Given the description of an element on the screen output the (x, y) to click on. 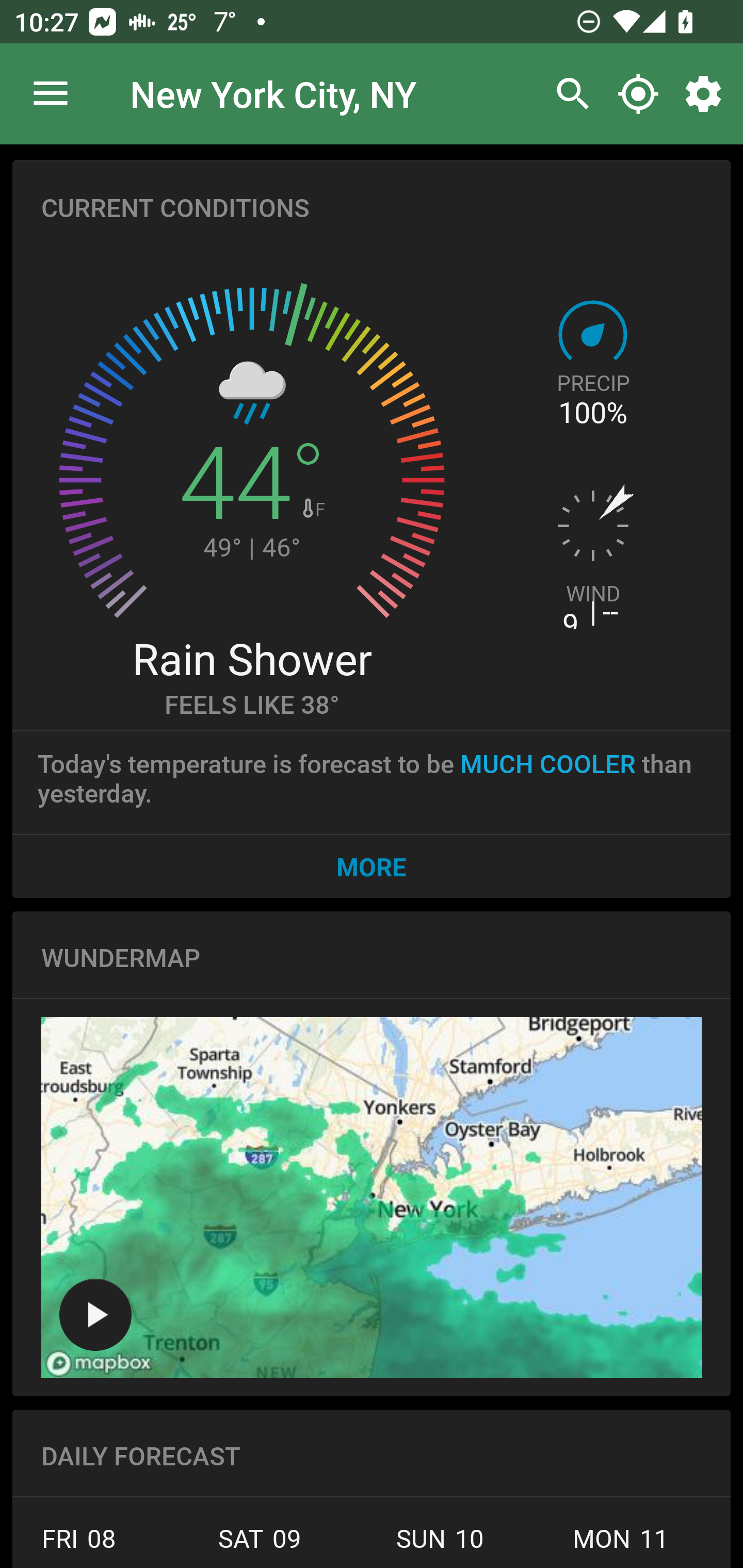
Press to open location manager. (50, 93)
Search for location (567, 94)
Select GPS location (637, 94)
Settings (706, 94)
New York City, NY (273, 92)
100% (592, 412)
Rain Shower (251, 657)
MORE (371, 865)
Weather Map (371, 1197)
Weather Map (95, 1314)
FRI 08 (90, 1544)
SAT 09 (259, 1544)
SUN 10 (439, 1544)
MON 11 (620, 1544)
